Given the description of an element on the screen output the (x, y) to click on. 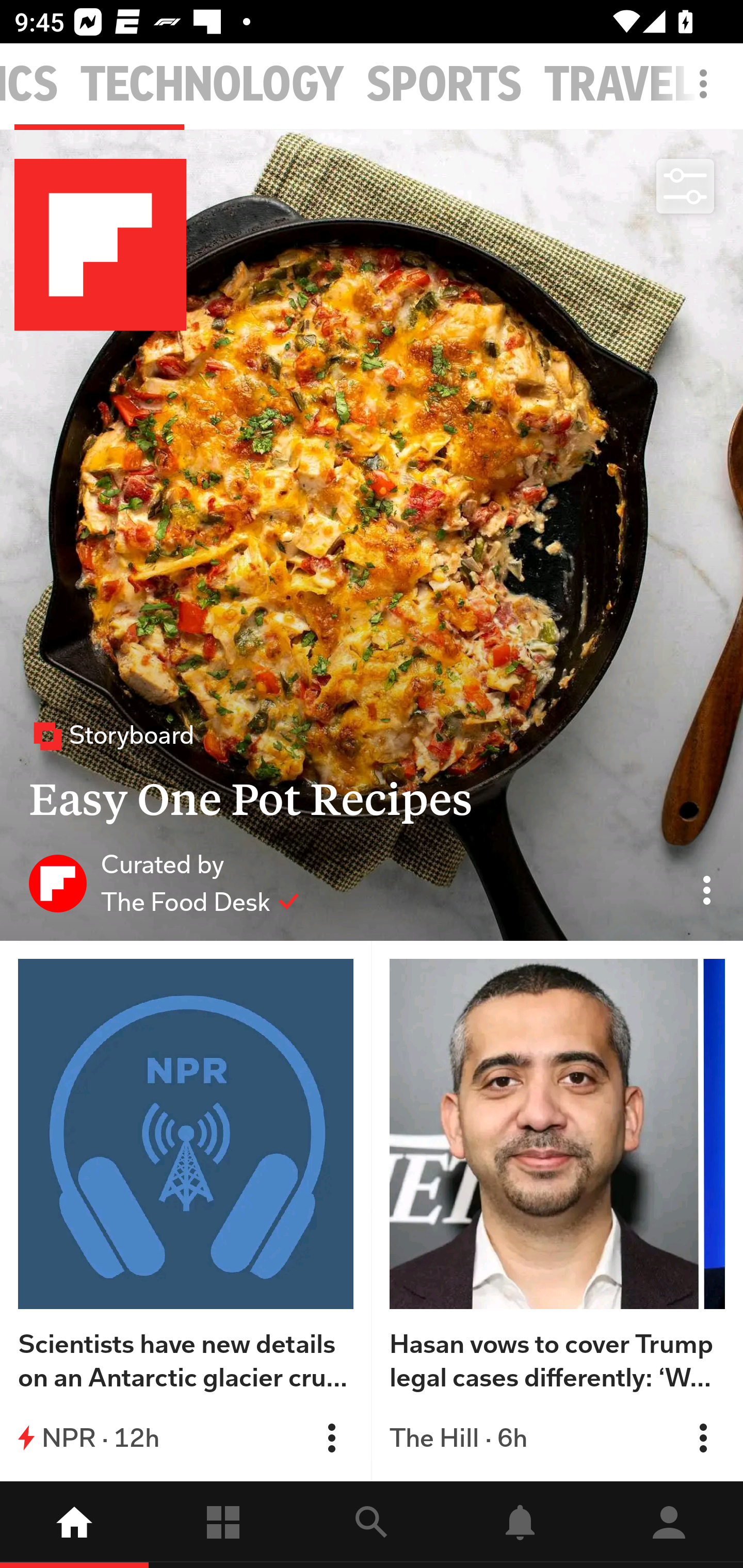
TECHNOLOGY (212, 84)
SPORTS (444, 84)
TRAVEL (620, 84)
More options (706, 93)
Curated by The Food Desk (163, 882)
NPR · 12h Flip into Magazine (185, 1437)
The Hill · 6h Flip into Magazine (557, 1437)
Flip into Magazine (331, 1437)
Flip into Magazine (703, 1437)
home (74, 1524)
Following (222, 1524)
explore (371, 1524)
Notifications (519, 1524)
Profile (668, 1524)
